Given the description of an element on the screen output the (x, y) to click on. 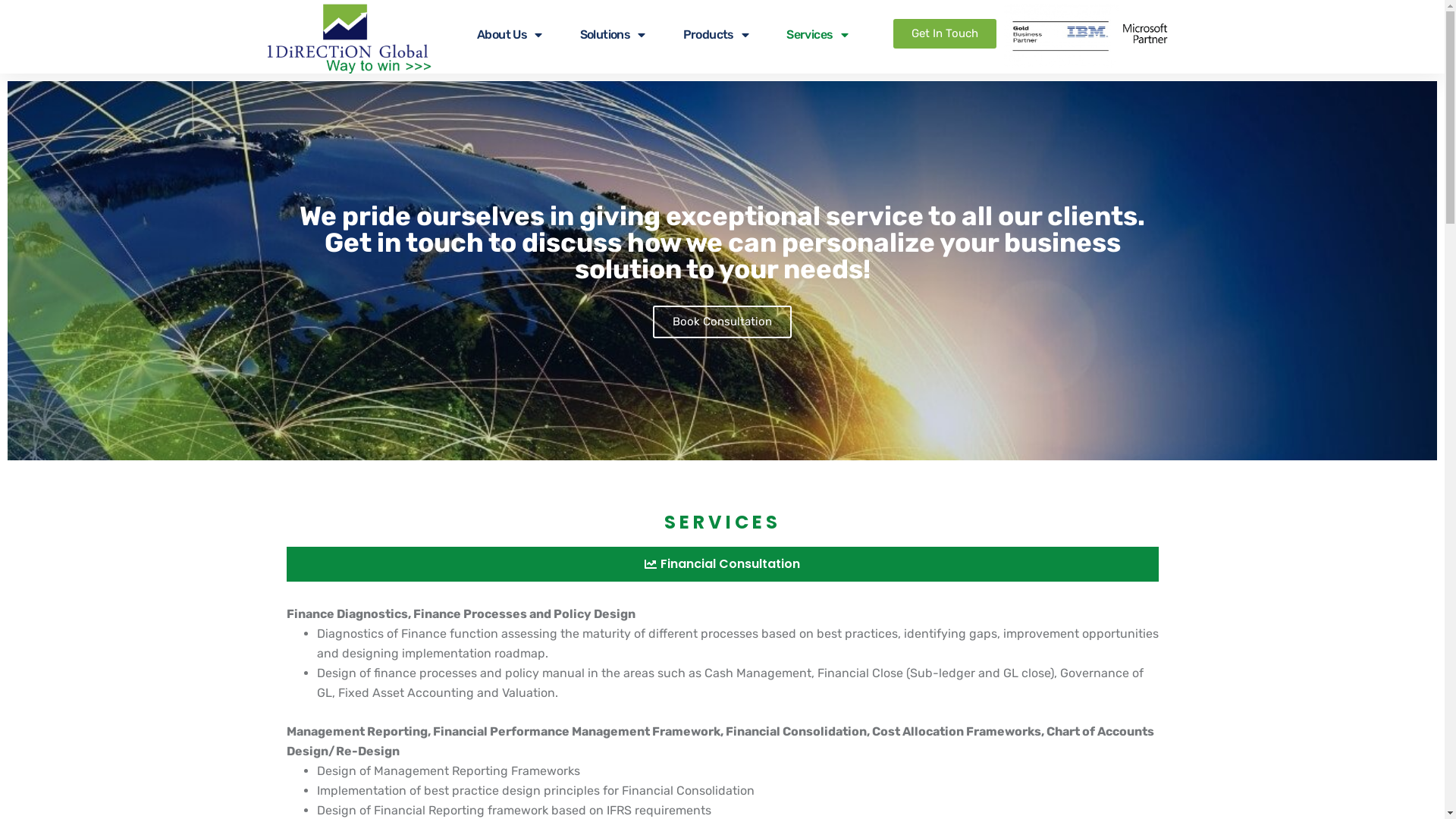
Services Element type: text (816, 34)
Get In Touch Element type: text (944, 33)
Solutions Element type: text (612, 34)
About Us Element type: text (509, 34)
Products Element type: text (716, 34)
Financial Consultation Element type: text (722, 563)
